Given the description of an element on the screen output the (x, y) to click on. 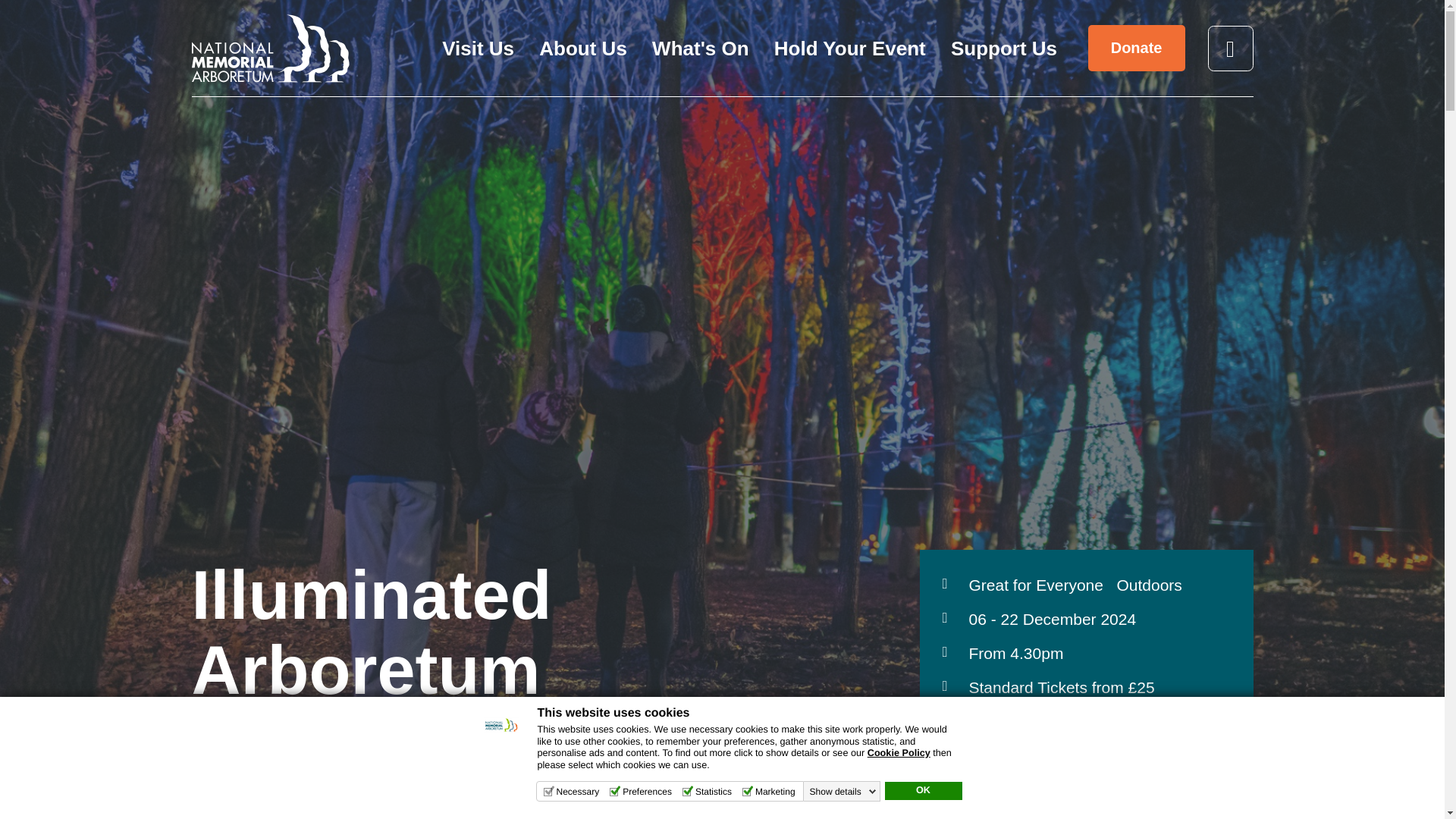
Cookie Policy (898, 752)
Show details (842, 791)
OK (921, 791)
